Given the description of an element on the screen output the (x, y) to click on. 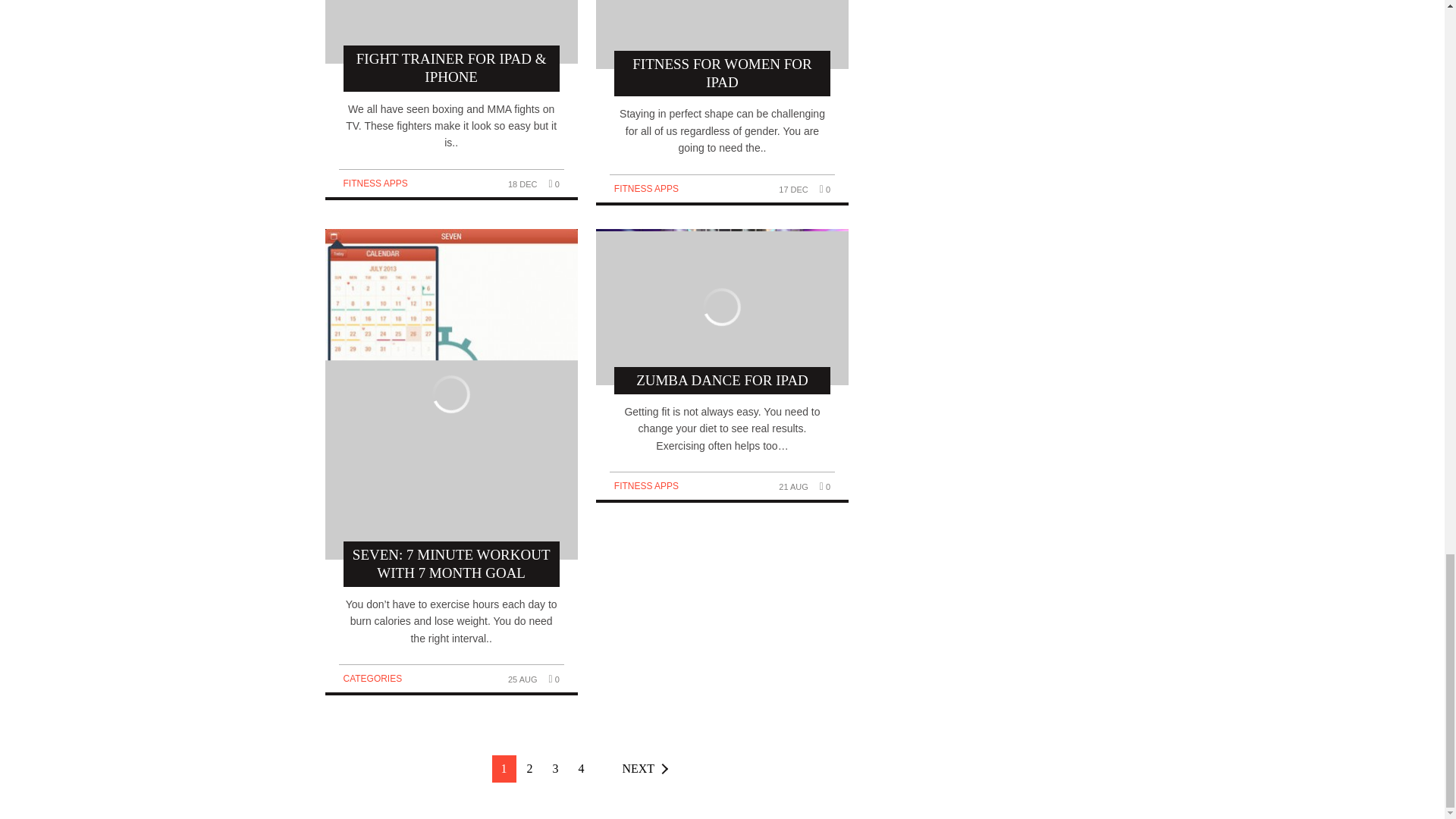
View all posts in Fitness Apps (374, 183)
View all posts in Fitness Apps (646, 485)
View all posts in Fitness Apps (646, 188)
View all posts in Categories (371, 678)
